Given the description of an element on the screen output the (x, y) to click on. 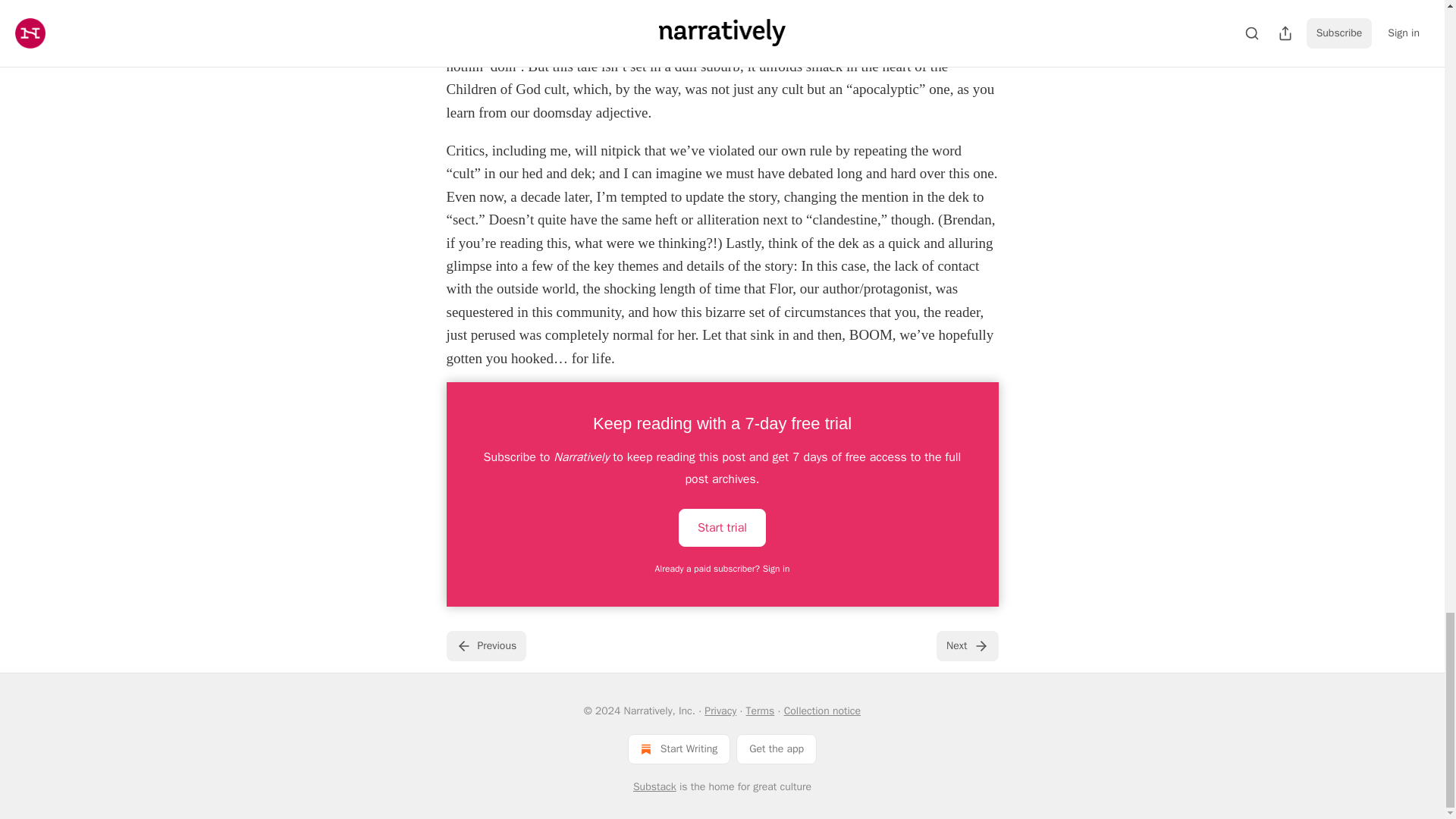
Next (966, 645)
Terms (759, 710)
Already a paid subscriber? Sign in (722, 568)
Start Writing (678, 748)
Start trial (721, 526)
Get the app (776, 748)
Start trial (721, 527)
Previous (485, 645)
Privacy (720, 710)
Collection notice (822, 710)
